Given the description of an element on the screen output the (x, y) to click on. 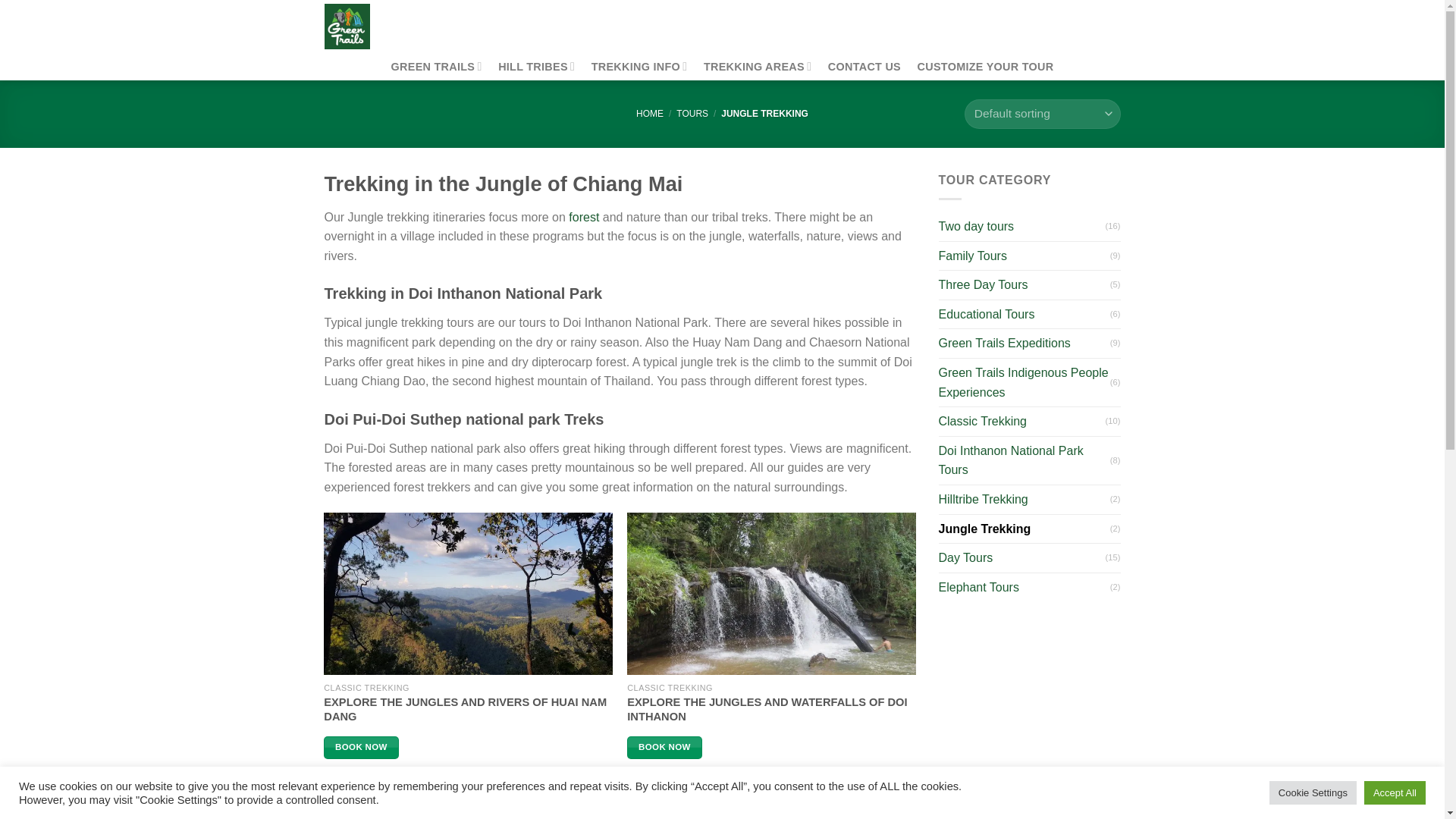
CLASSIC TREKKING (694, 15)
Cart (1099, 25)
TWO DAY TOURS (568, 15)
Green Trails - Trekking Adventures (361, 26)
DAY TOURS (465, 15)
